Given the description of an element on the screen output the (x, y) to click on. 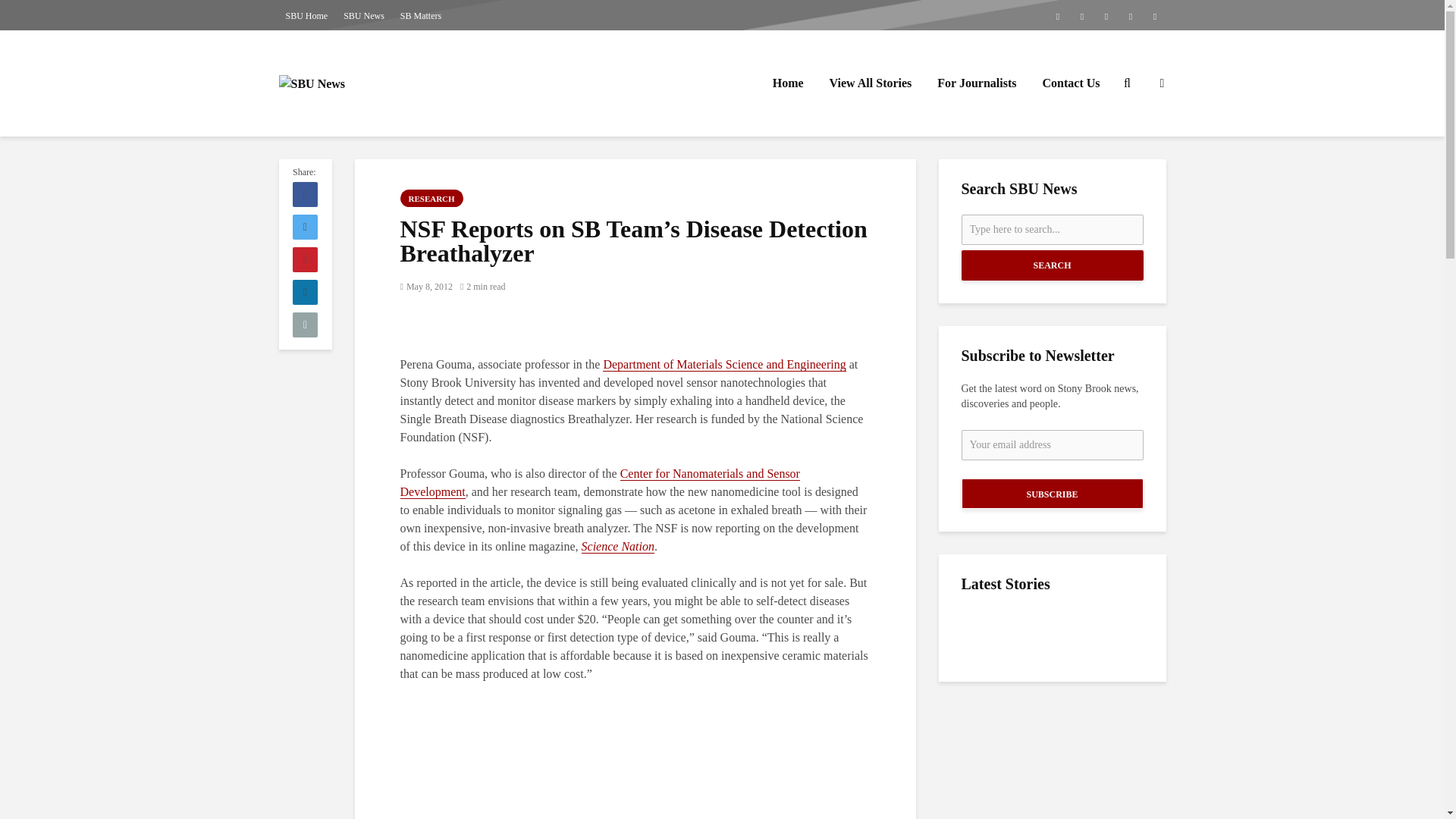
Home (788, 82)
For Journalists (976, 82)
Contact Us (1071, 82)
View All Stories (870, 82)
SBU News (363, 15)
Subscribe (1051, 493)
SB Matters (420, 15)
SBU Home (306, 15)
